Given the description of an element on the screen output the (x, y) to click on. 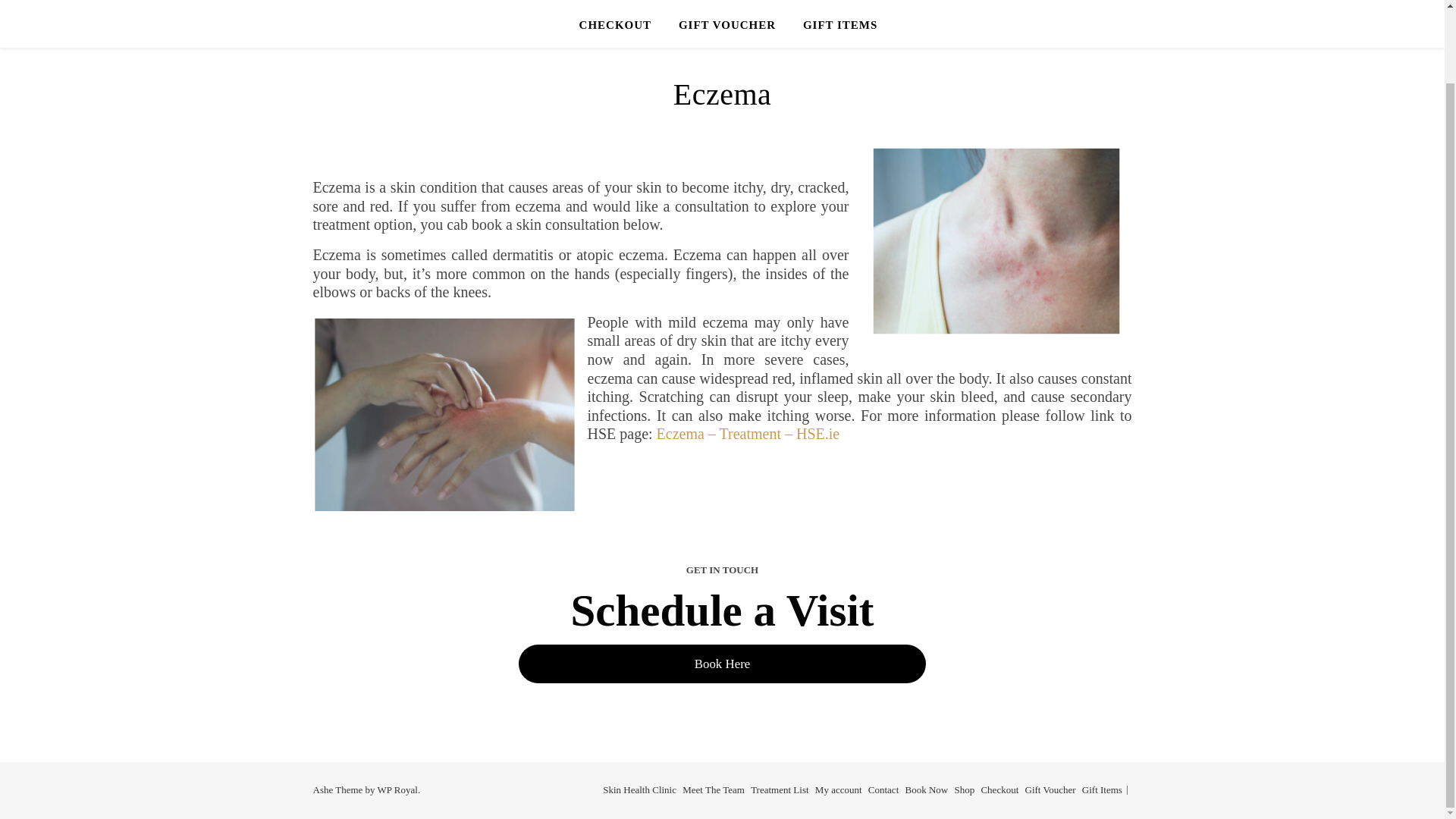
SHOP (1083, 1)
CHECKOUT (615, 24)
SKIN HEALTH CLINIC (405, 1)
Skin Health Clinic (639, 789)
Gift Voucher (1050, 789)
MY ACCOUNT (809, 1)
Gift Items (1101, 789)
CONTACT (910, 1)
My account (838, 789)
TREATMENT LIST (683, 1)
BOOK NOW (1003, 1)
WP Royal (397, 789)
MEET THE TEAM (546, 1)
Meet The Team (713, 789)
GIFT VOUCHER (726, 24)
